Given the description of an element on the screen output the (x, y) to click on. 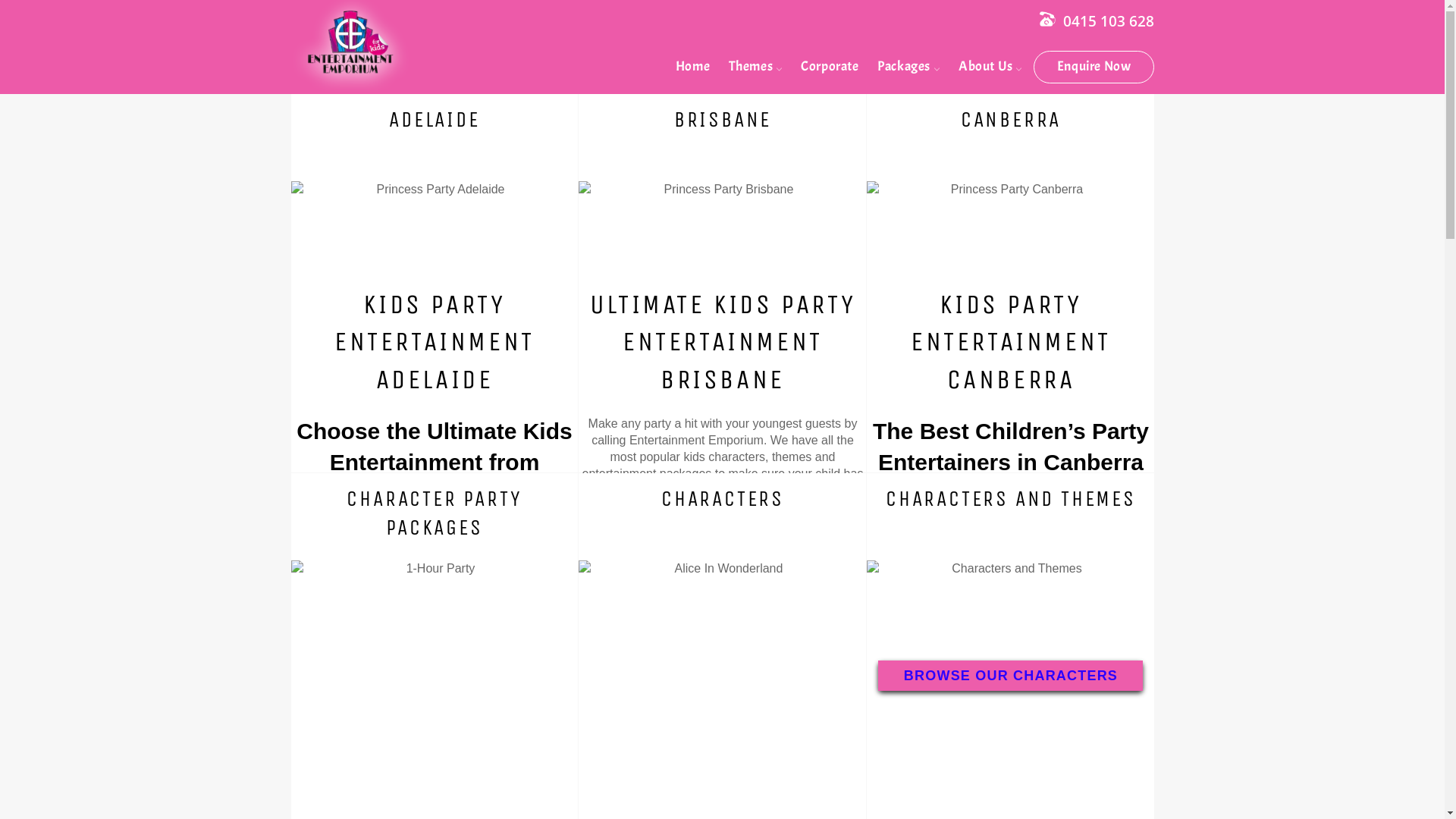
Contact us! Element type: hover (1047, 18)
Home Element type: text (692, 67)
About Us Element type: text (989, 67)
Enquire Now Element type: text (1093, 66)
Corporate Element type: text (829, 67)
BROWSE OUR CHARACTERS Element type: text (1010, 675)
0415 103 628 Element type: text (1108, 21)
Packages Element type: text (908, 67)
Themes Element type: text (755, 67)
